Given the description of an element on the screen output the (x, y) to click on. 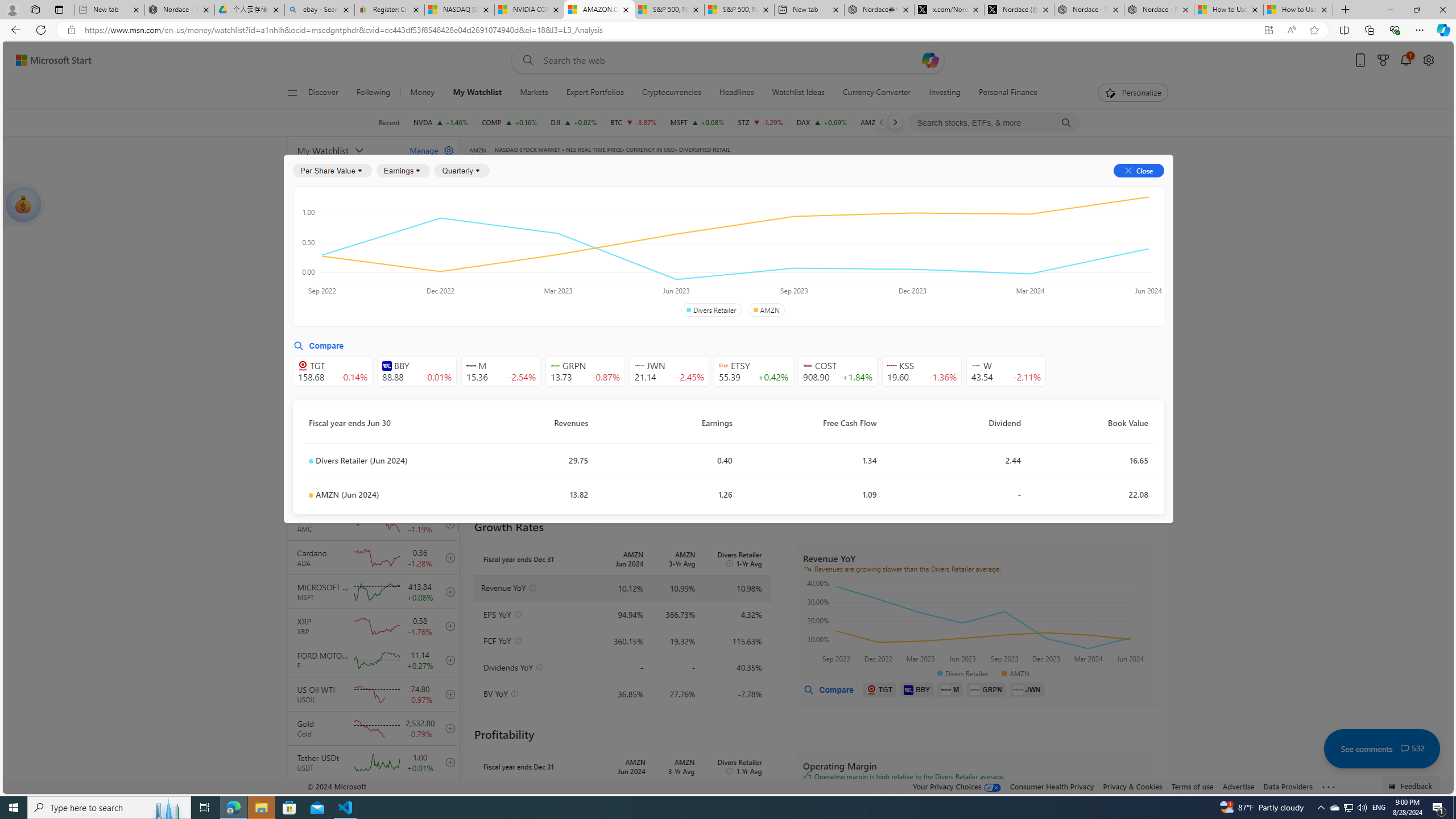
Profitability (662, 253)
Your Privacy Choices (956, 786)
JWN (1027, 689)
Currency Converter (876, 92)
See comments 532 (1381, 748)
MSFT MICROSOFT CORPORATION increase 413.84 +0.35 +0.08% (696, 122)
Terms of use (1192, 785)
Class: text-DS-EntryPoint1-3 (888, 254)
Expert Portfolios (595, 92)
Analysis (901, 188)
Class: feedback_link_icon-DS-EntryPoint1-1 (1393, 786)
